Given the description of an element on the screen output the (x, y) to click on. 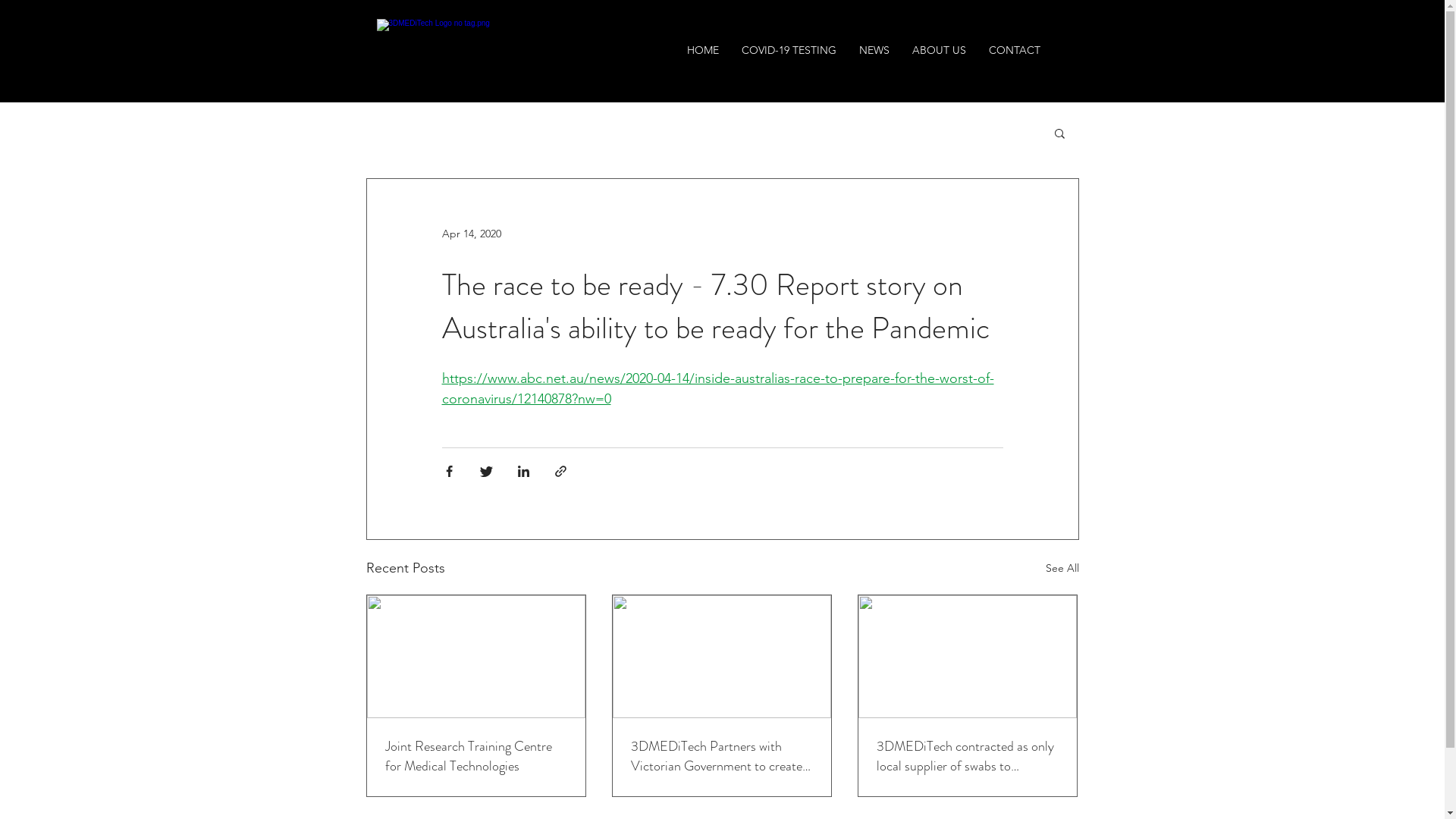
CONTACT Element type: text (1013, 49)
NEWS Element type: text (873, 49)
HOME Element type: text (701, 49)
COVID-19 TESTING Element type: text (788, 49)
Joint Research Training Centre for Medical Technologies Element type: text (476, 755)
See All Element type: text (1061, 568)
ABOUT US Element type: text (938, 49)
